Given the description of an element on the screen output the (x, y) to click on. 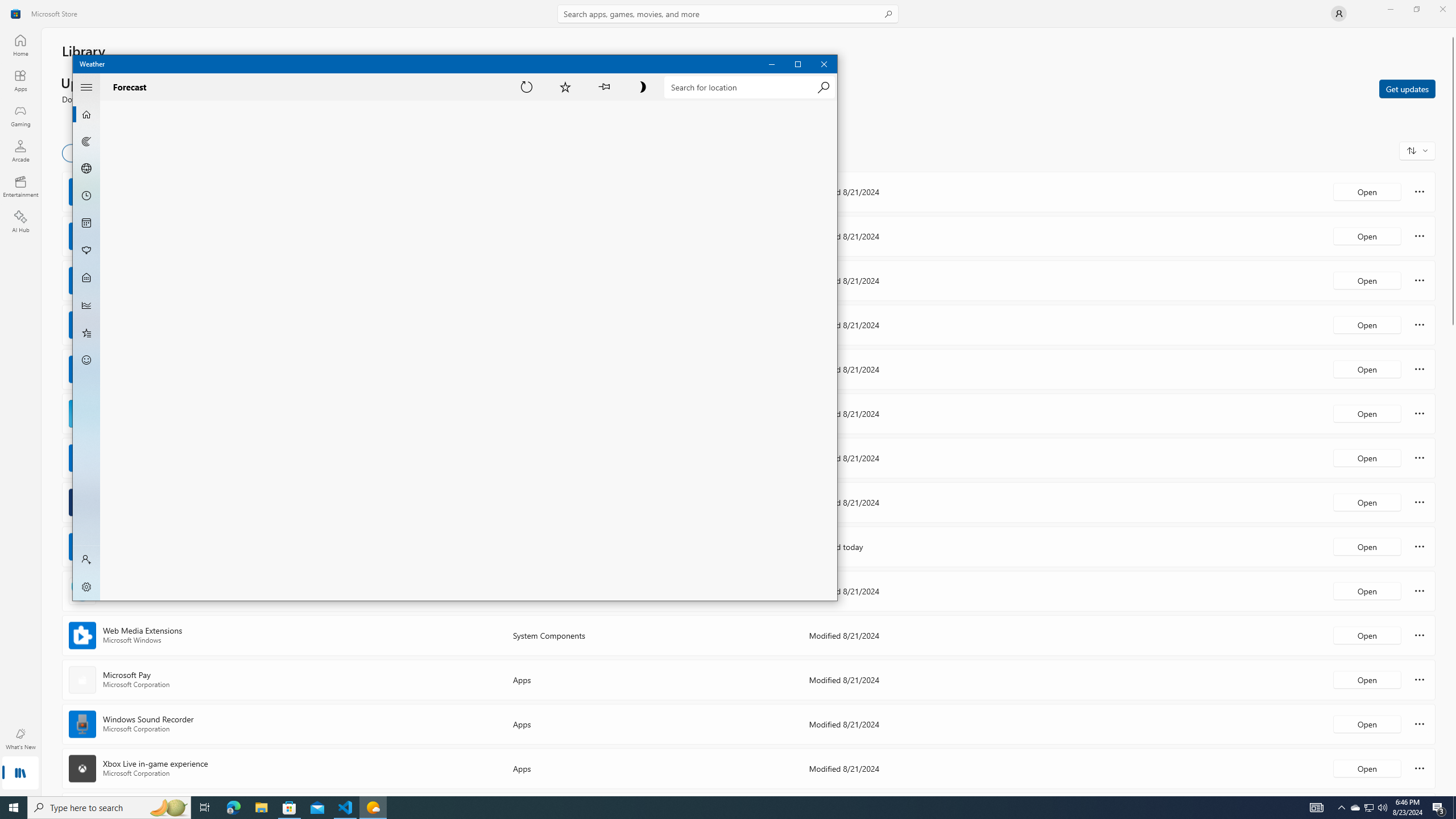
Arcade (20, 150)
What's New (20, 738)
Type here to search (108, 807)
Vertical Small Decrease (1452, 31)
Gaming (20, 115)
Open (1366, 768)
Microsoft Edge (233, 807)
More options (1419, 768)
Vertical (1452, 412)
Task View (204, 807)
Start (13, 807)
Home (20, 45)
Action Center, 3 new notifications (1368, 807)
